Given the description of an element on the screen output the (x, y) to click on. 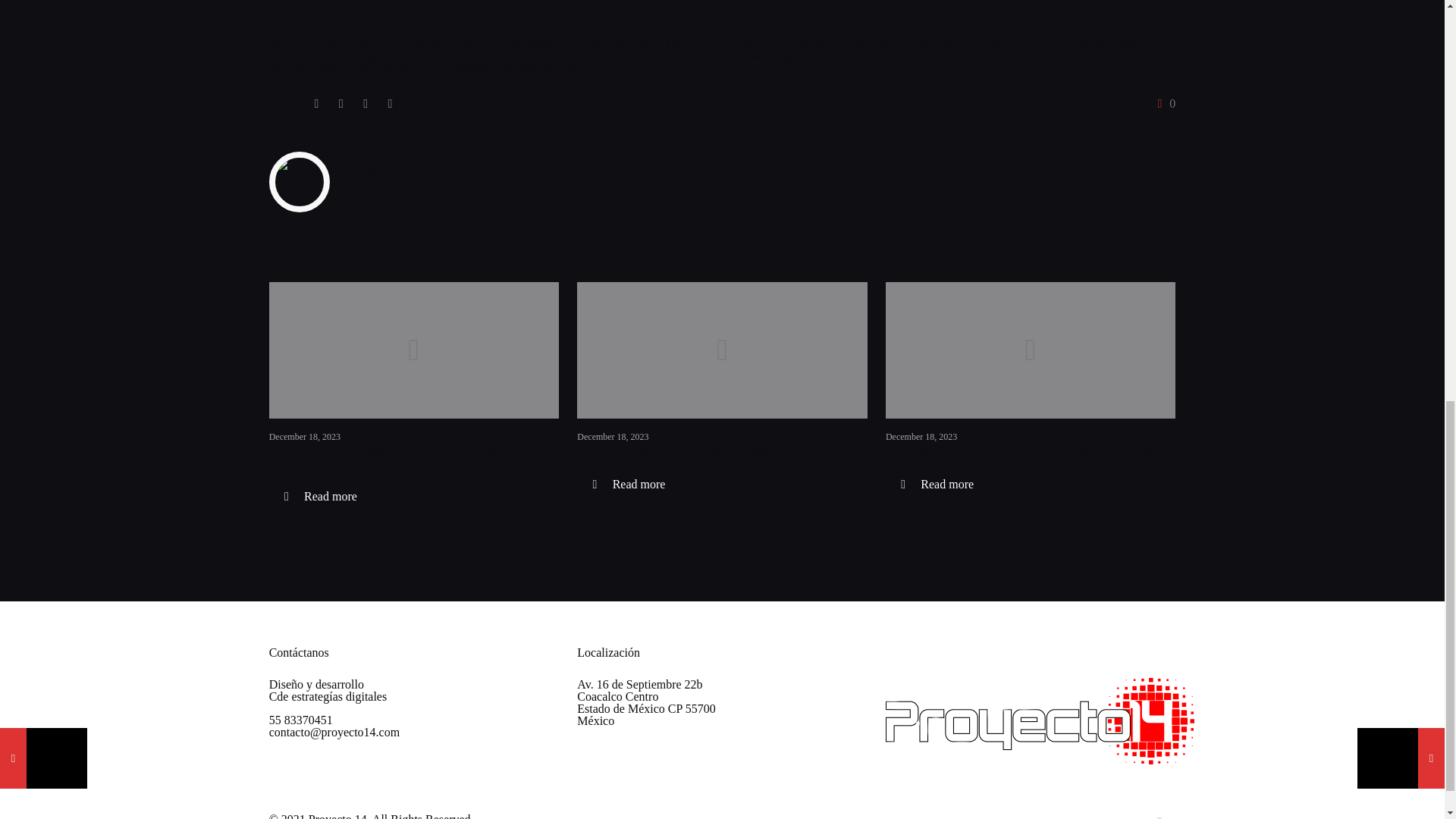
0 (1162, 103)
Read more (936, 483)
admin (379, 172)
Read more (627, 483)
Read more (320, 496)
